Given the description of an element on the screen output the (x, y) to click on. 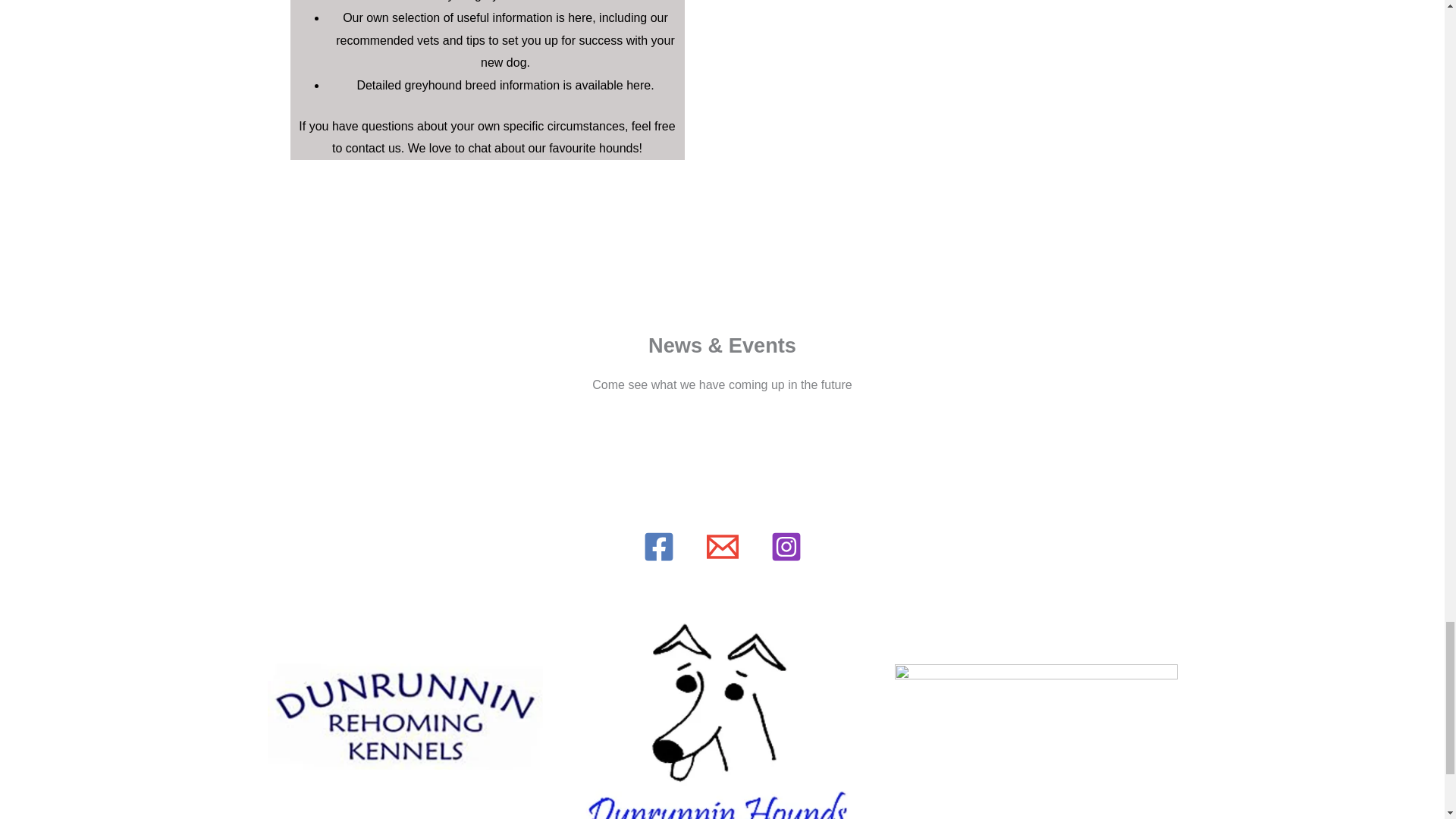
Our own selection of useful information is here (467, 17)
Detailed greyhound breed information is available here. (504, 84)
contact us (373, 147)
